Given the description of an element on the screen output the (x, y) to click on. 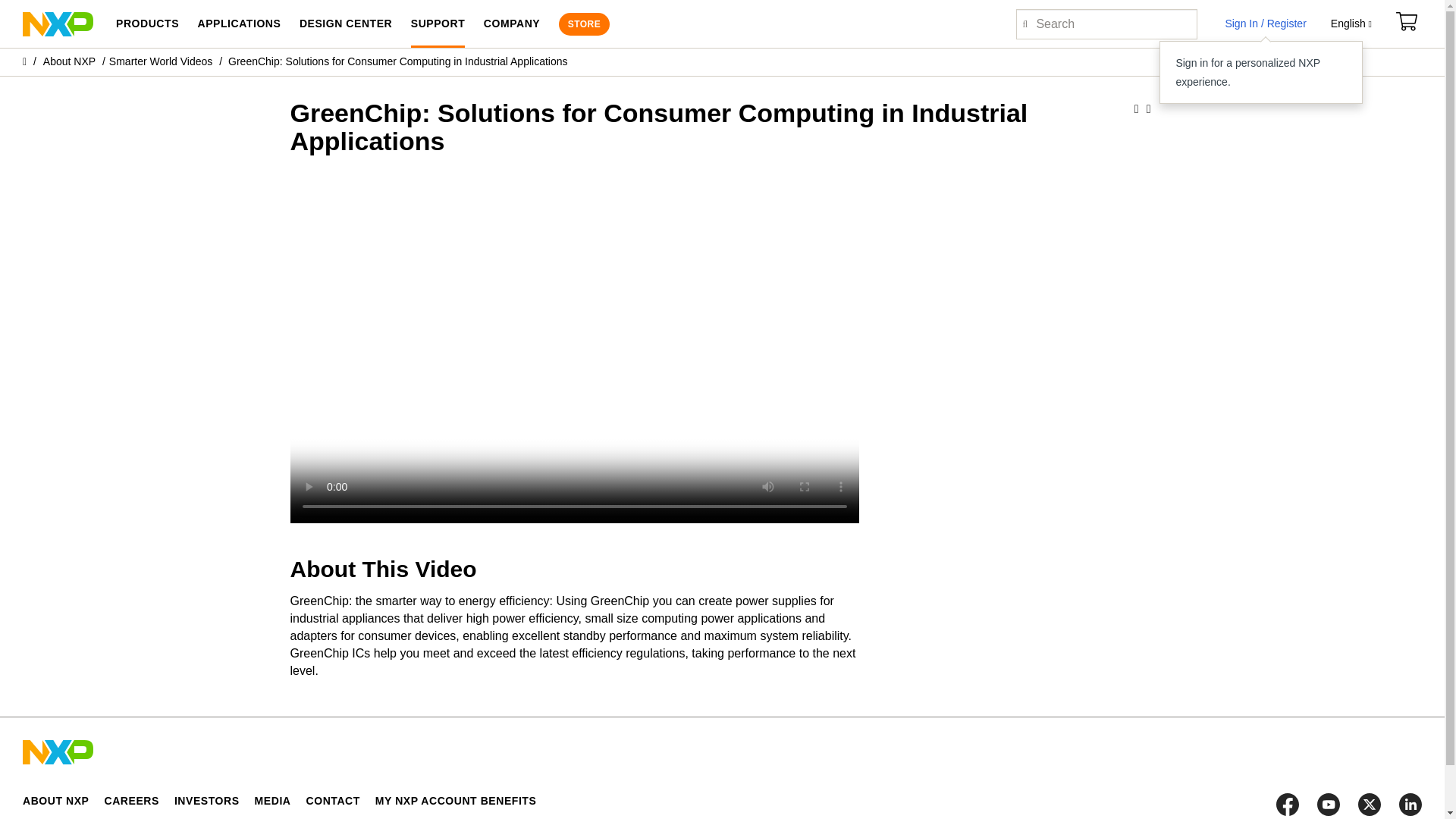
DESIGN CENTER (345, 23)
NXP Semiconductor (58, 23)
English  (1350, 23)
SUPPORT (437, 23)
COMPANY (511, 23)
APPLICATIONS (238, 23)
STORE (584, 24)
PRODUCTS (147, 23)
